Given the description of an element on the screen output the (x, y) to click on. 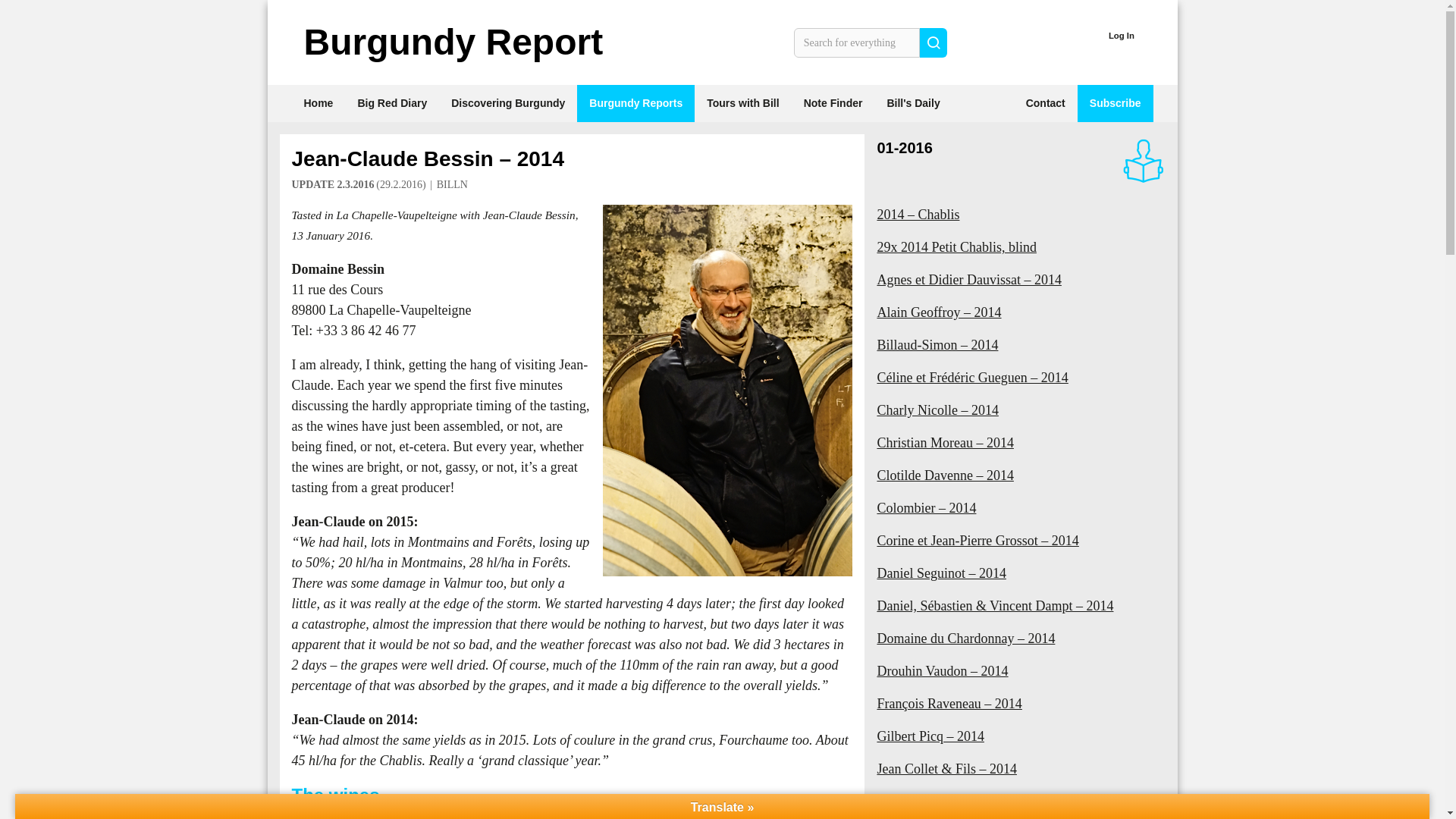
29x 2014 Petit Chablis, blind (1020, 246)
BILLN (451, 184)
01-2016 (903, 147)
